Given the description of an element on the screen output the (x, y) to click on. 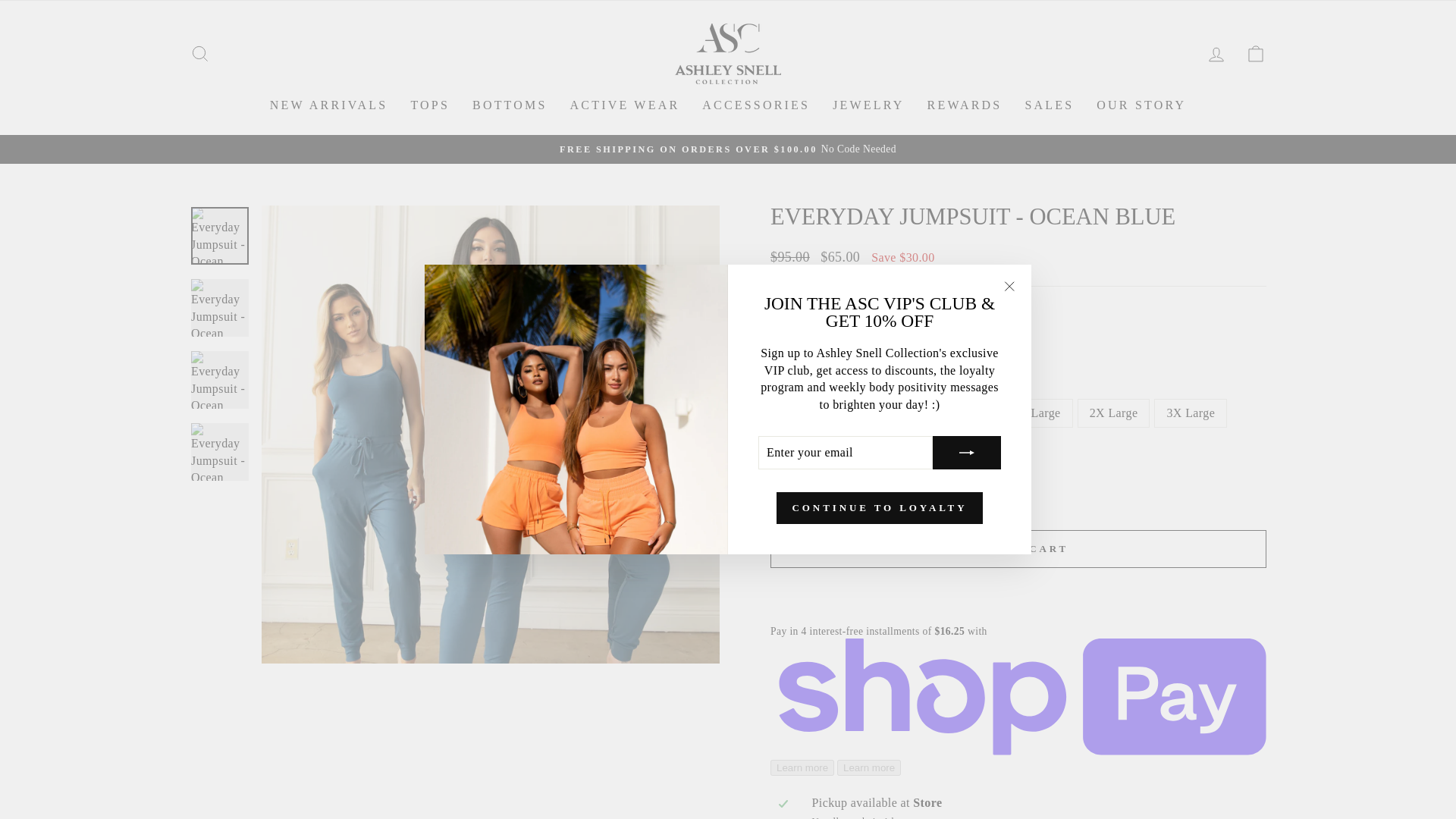
JEWELRY (868, 105)
REWARDS (964, 105)
ACTIVE WEAR (625, 105)
CART (1255, 52)
CONTINUE TO LOYALTY (880, 508)
LOG IN (1216, 52)
NEW ARRIVALS (328, 105)
